Given the description of an element on the screen output the (x, y) to click on. 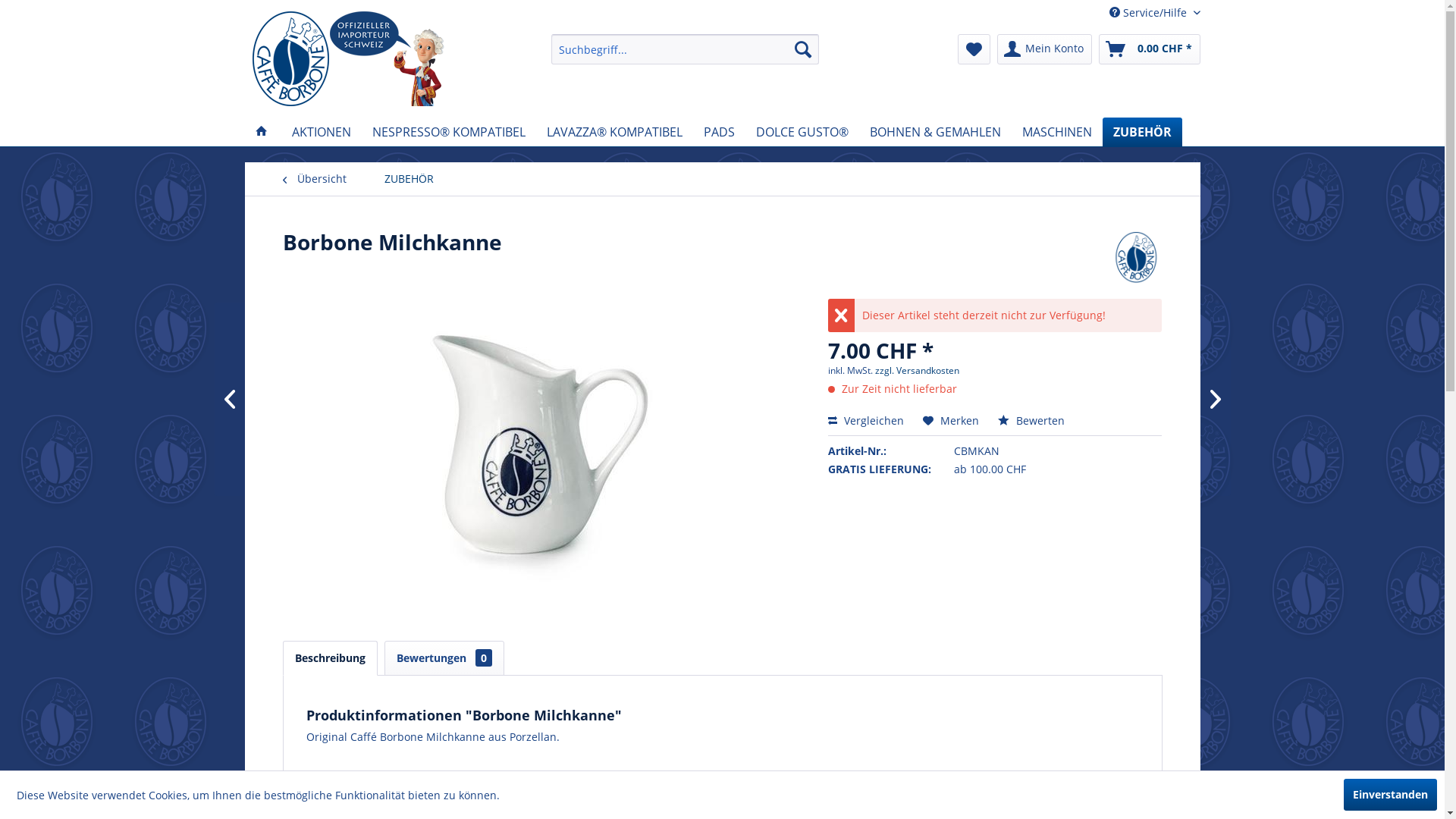
Beschreibung Element type: text (329, 657)
MASCHINEN Element type: text (1056, 131)
Einverstanden Element type: text (1390, 794)
zzgl. Versandkosten Element type: text (917, 370)
Merken Element type: text (950, 420)
Borbone Tablett Element type: hover (304, 398)
Mein Konto Element type: text (1043, 49)
BOHNEN & GEMAHLEN Element type: text (934, 131)
Home Element type: hover (260, 131)
PADS Element type: text (719, 131)
Vergleichen Element type: text (865, 420)
AKTIONEN Element type: text (320, 131)
Merkzettel Element type: hover (973, 49)
Bewerten Element type: text (1030, 420)
0.00 CHF * Element type: text (1148, 49)
Bewertungen 0 Element type: text (443, 657)
